Given the description of an element on the screen output the (x, y) to click on. 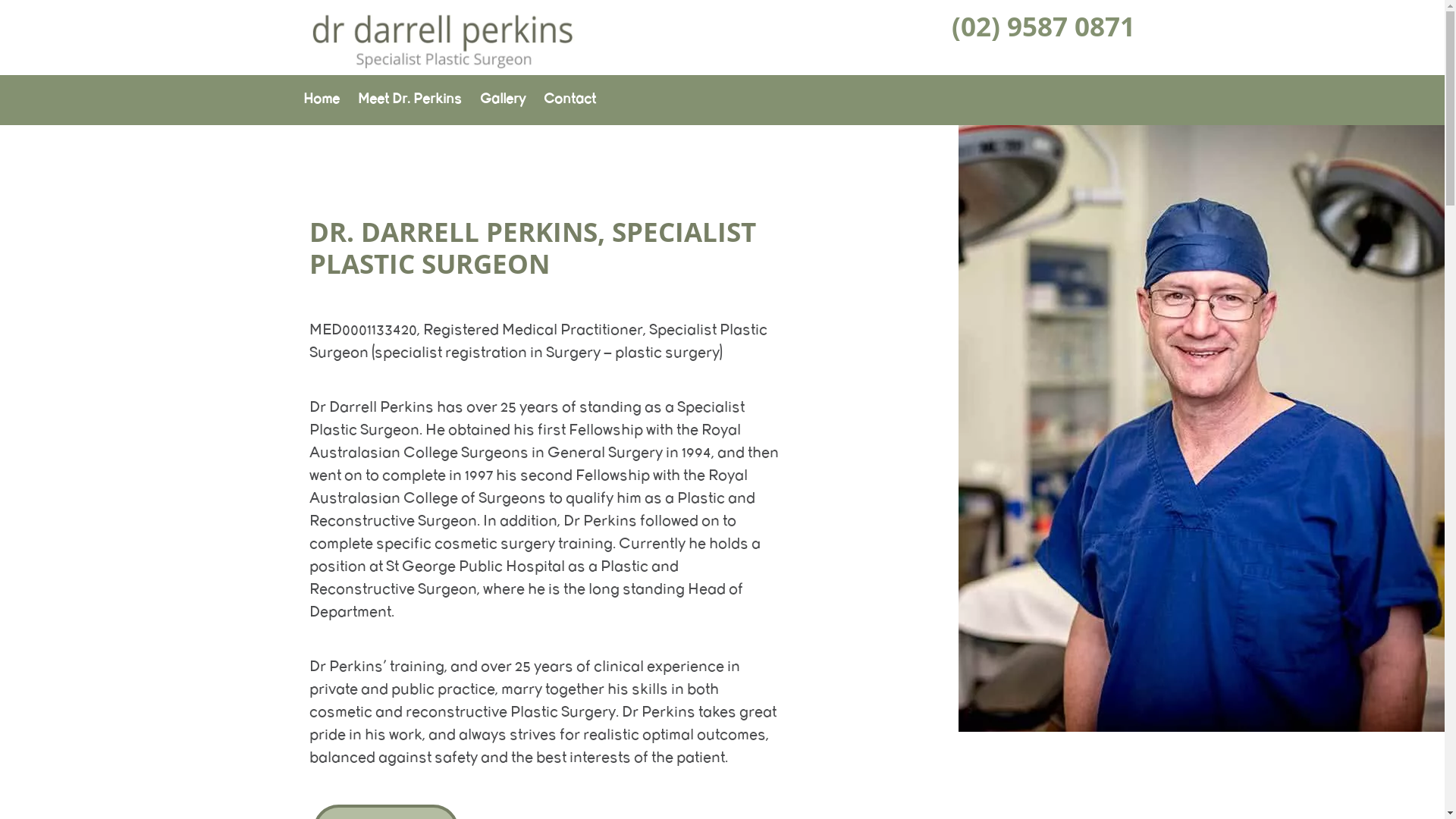
Gallery Element type: text (501, 100)
Contact Element type: text (568, 100)
Meet Dr. Perkins Element type: text (409, 100)
Doctor Element type: hover (1201, 428)
Home Element type: text (321, 100)
(02) 9587 0871 Element type: text (1043, 26)
Logo Element type: hover (441, 66)
